Given the description of an element on the screen output the (x, y) to click on. 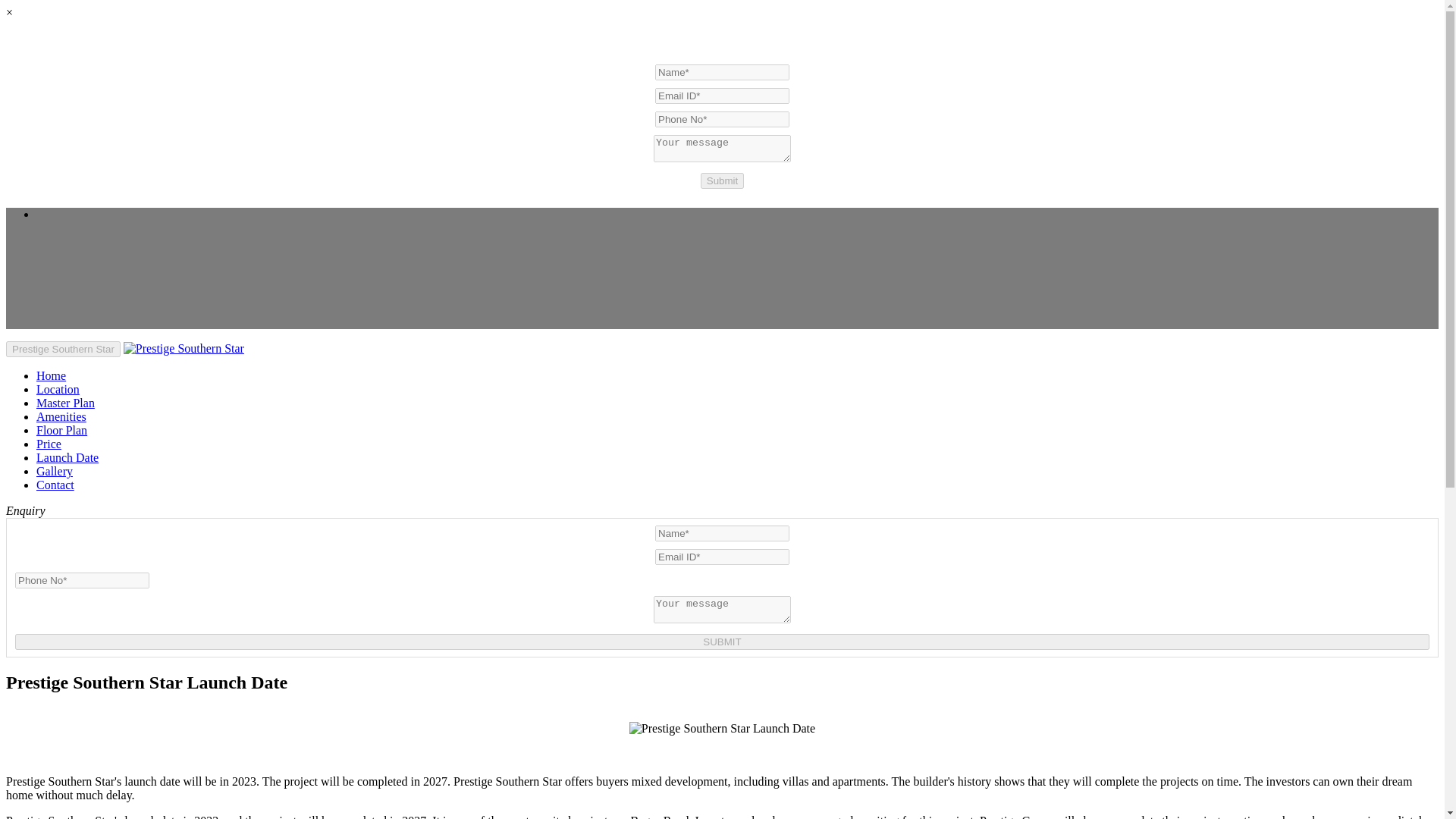
Prestige Southern Star (183, 348)
Prestige Southern Star Launch Date (721, 728)
Home (50, 375)
Prestige Southern Star Gallery (54, 471)
Floor Plan (61, 430)
Gallery (54, 471)
Price (48, 443)
Prestige Southern Star Floor Plan (61, 430)
Contact (55, 484)
Amenities (60, 416)
